Given the description of an element on the screen output the (x, y) to click on. 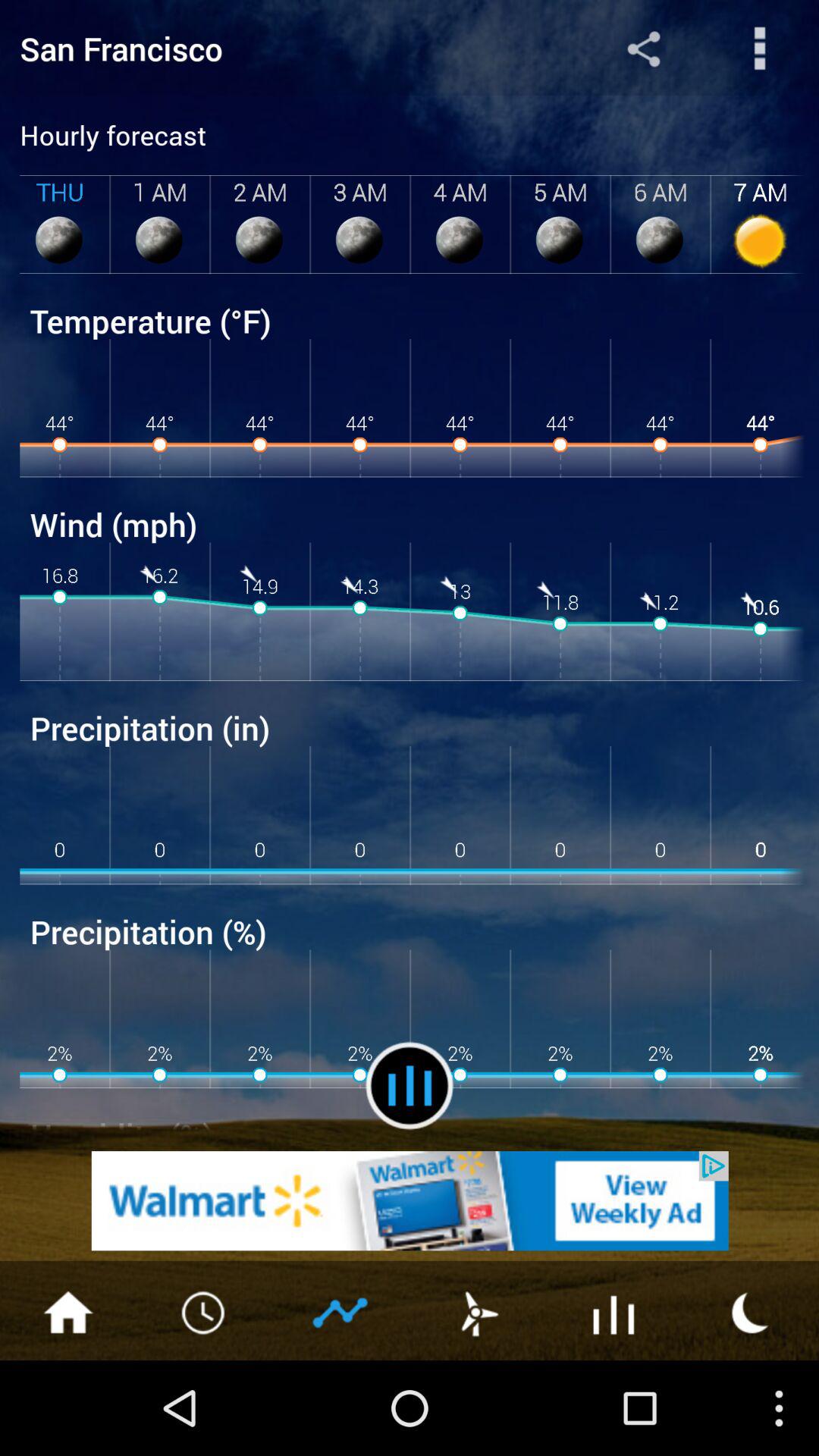
see charting and changes (341, 1311)
